Given the description of an element on the screen output the (x, y) to click on. 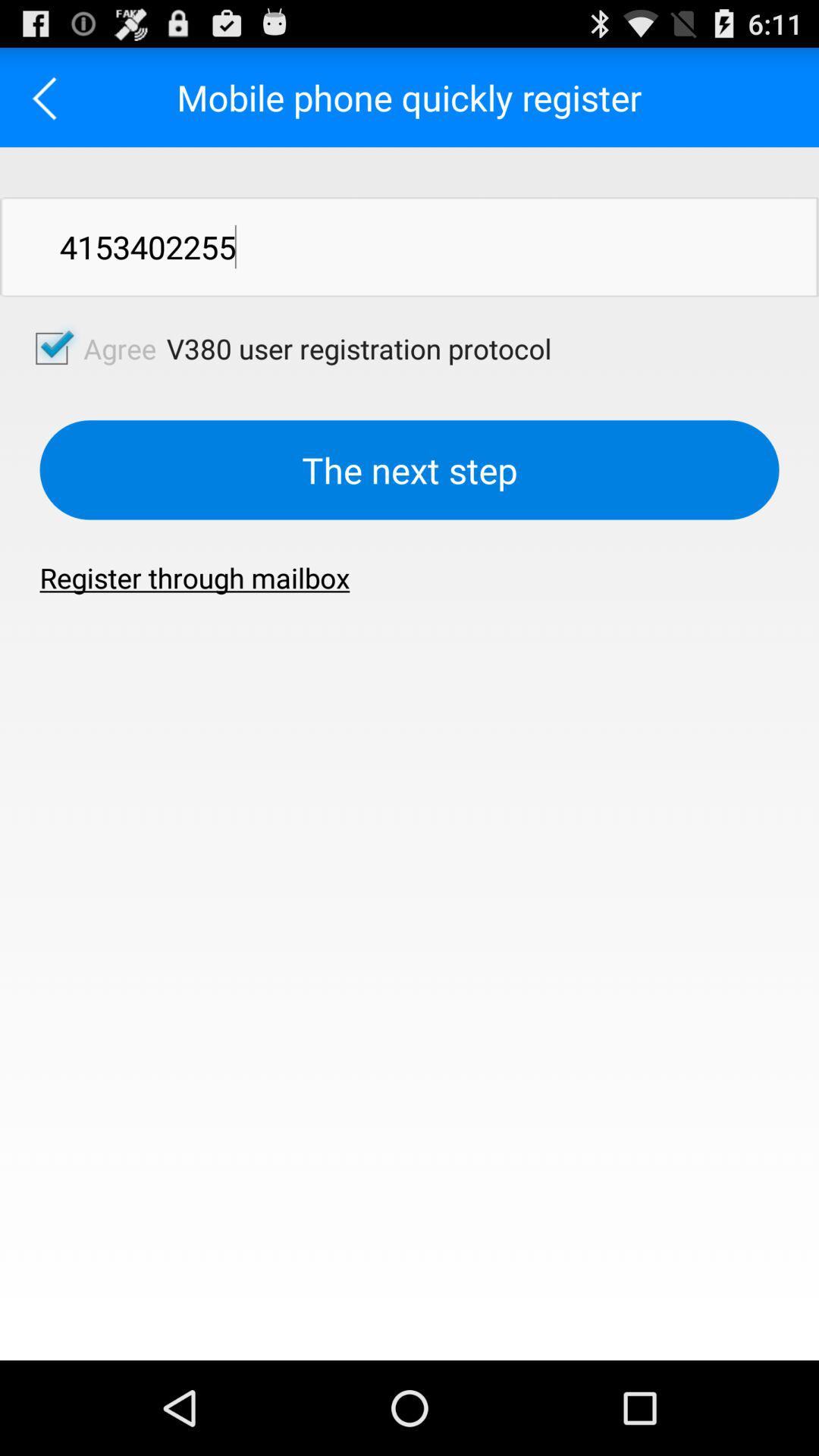
go back (49, 97)
